Given the description of an element on the screen output the (x, y) to click on. 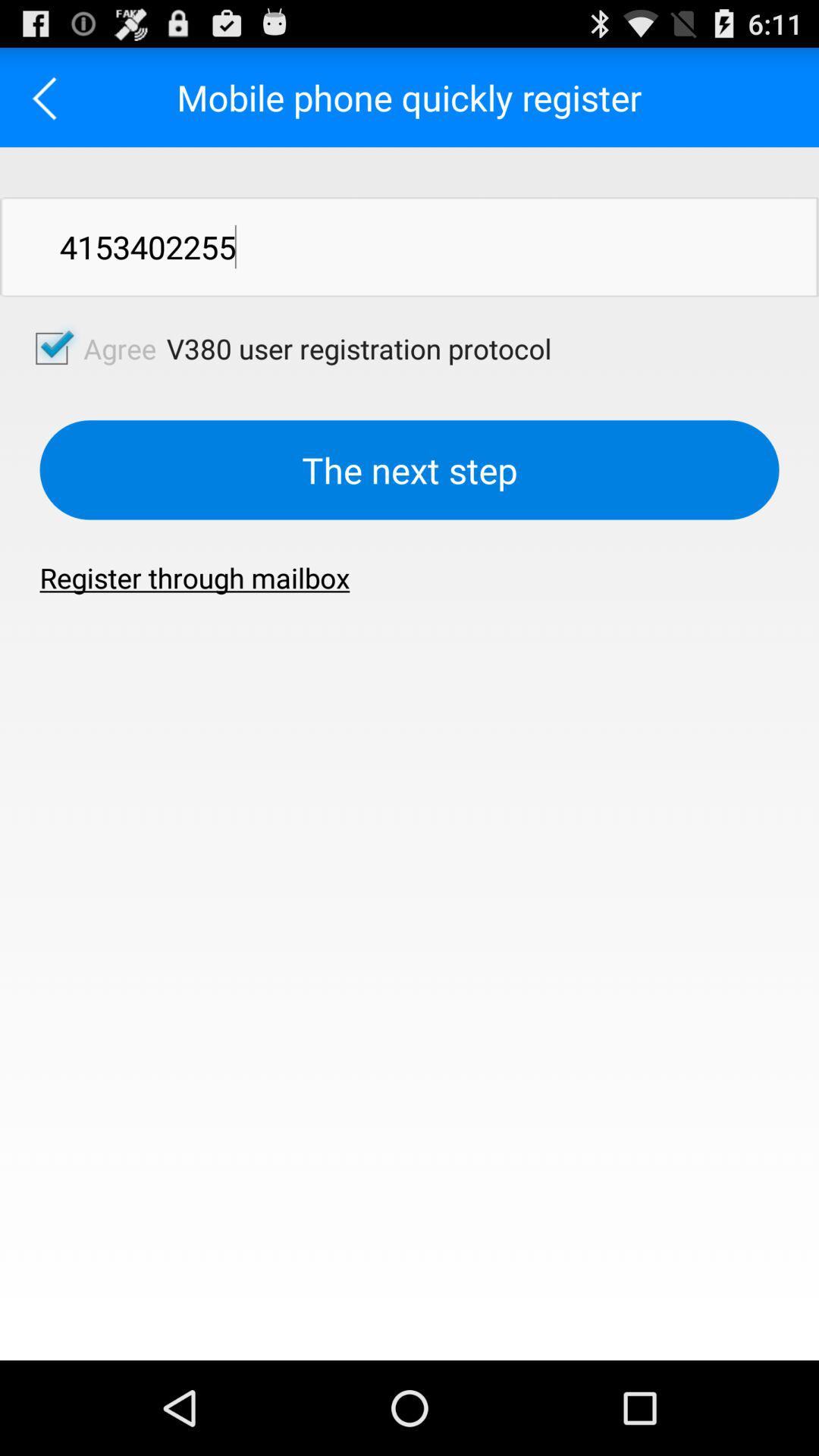
go back (49, 97)
